Given the description of an element on the screen output the (x, y) to click on. 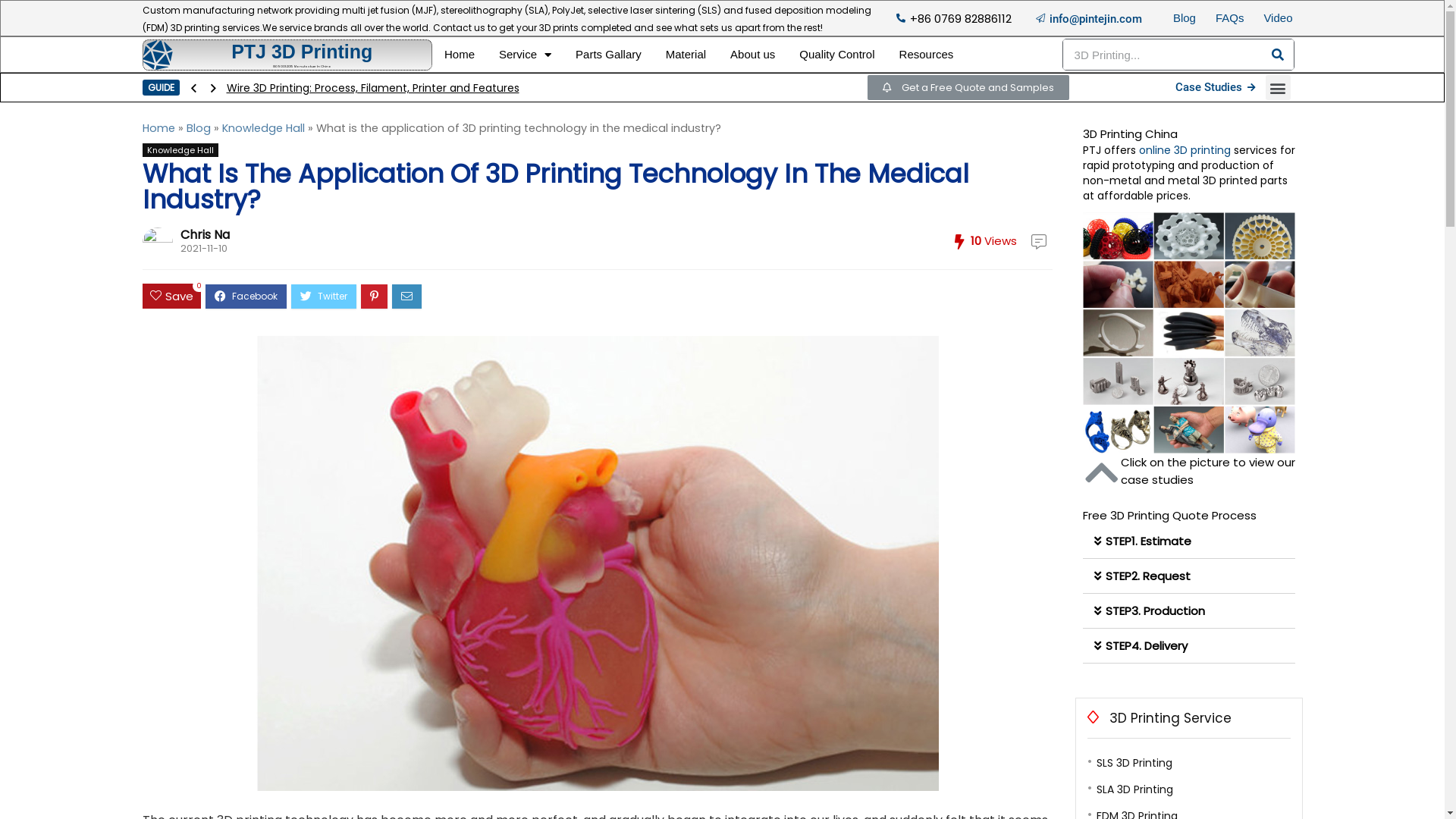
STEP1. Estimate Element type: text (1148, 541)
Search Element type: hover (1277, 54)
STEP3. Production Element type: text (1154, 610)
Knowledge Hall Element type: text (262, 127)
Blog Element type: text (198, 127)
STEP2. Request Element type: text (1147, 575)
STEP4. Delivery Element type: text (1146, 645)
Video Element type: text (1277, 17)
SLA 3D Printing Element type: text (1134, 789)
Search Element type: hover (1162, 54)
About us Element type: text (752, 54)
Parts Gallary Element type: text (608, 54)
Blog Element type: text (1184, 17)
Wire 3D Printing: Process, Filament, Printer and Features Element type: text (371, 87)
Resources Element type: text (926, 54)
Quality Control Element type: text (836, 54)
online 3D printing Element type: text (1184, 149)
Home Element type: text (459, 54)
Home Element type: text (158, 127)
Service Element type: text (517, 54)
Knowledge Hall Element type: text (180, 149)
SLS 3D Printing Element type: text (1134, 762)
PTJ 3D Printing Element type: text (301, 51)
Material Element type: text (685, 54)
Get a Free Quote and Samples Element type: text (968, 87)
Chris Na Element type: text (204, 234)
FAQs Element type: text (1229, 17)
